Given the description of an element on the screen output the (x, y) to click on. 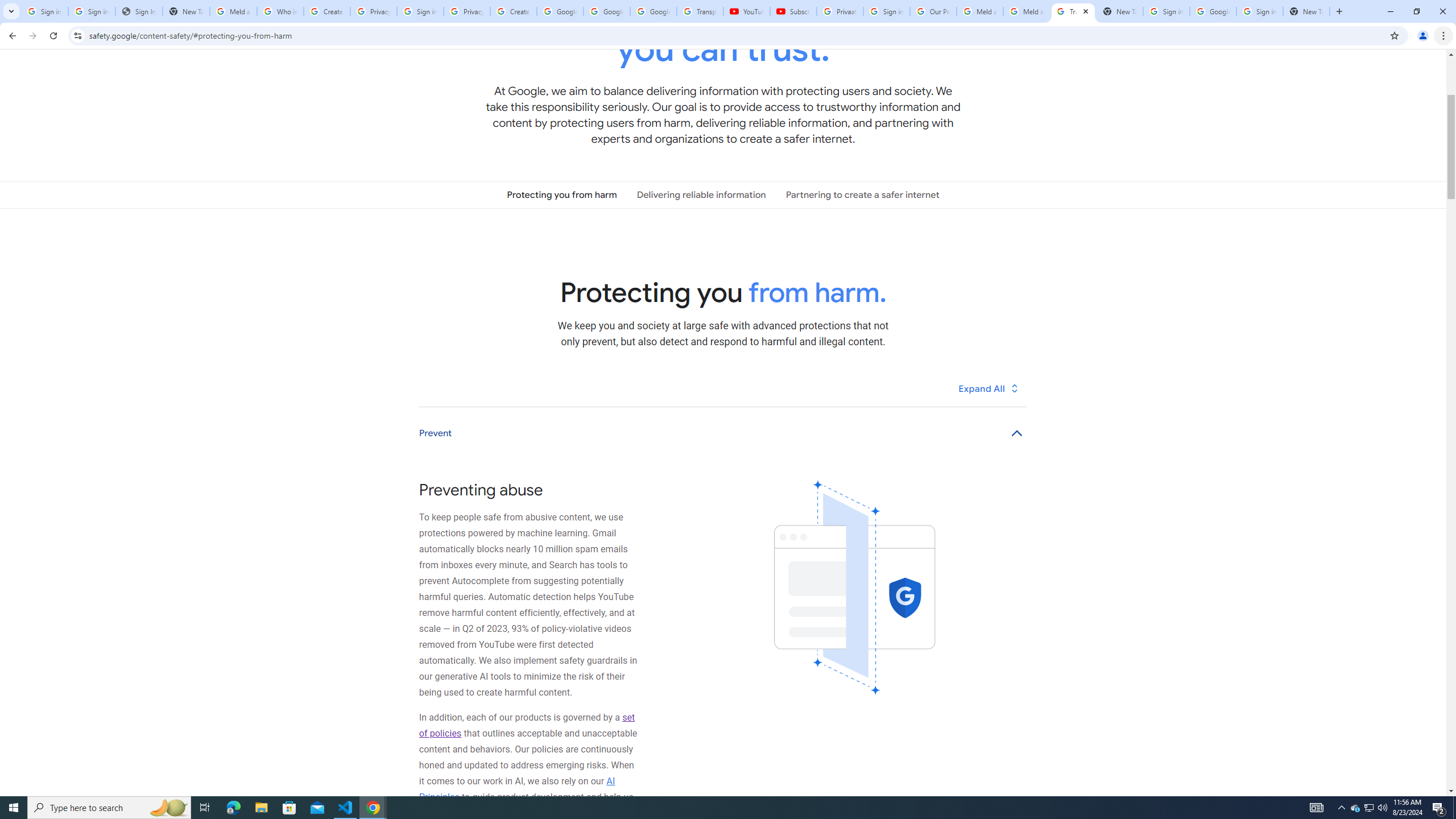
Partnering to create a safer internet (862, 194)
Sign in - Google Accounts (1259, 11)
Expand All (988, 388)
Google Account (652, 11)
YouTube (745, 11)
Delivering reliable information (700, 194)
New Tab (1306, 11)
Trusted Information and Content - Google Safety Center (1073, 11)
Sign in - Google Accounts (419, 11)
